Given the description of an element on the screen output the (x, y) to click on. 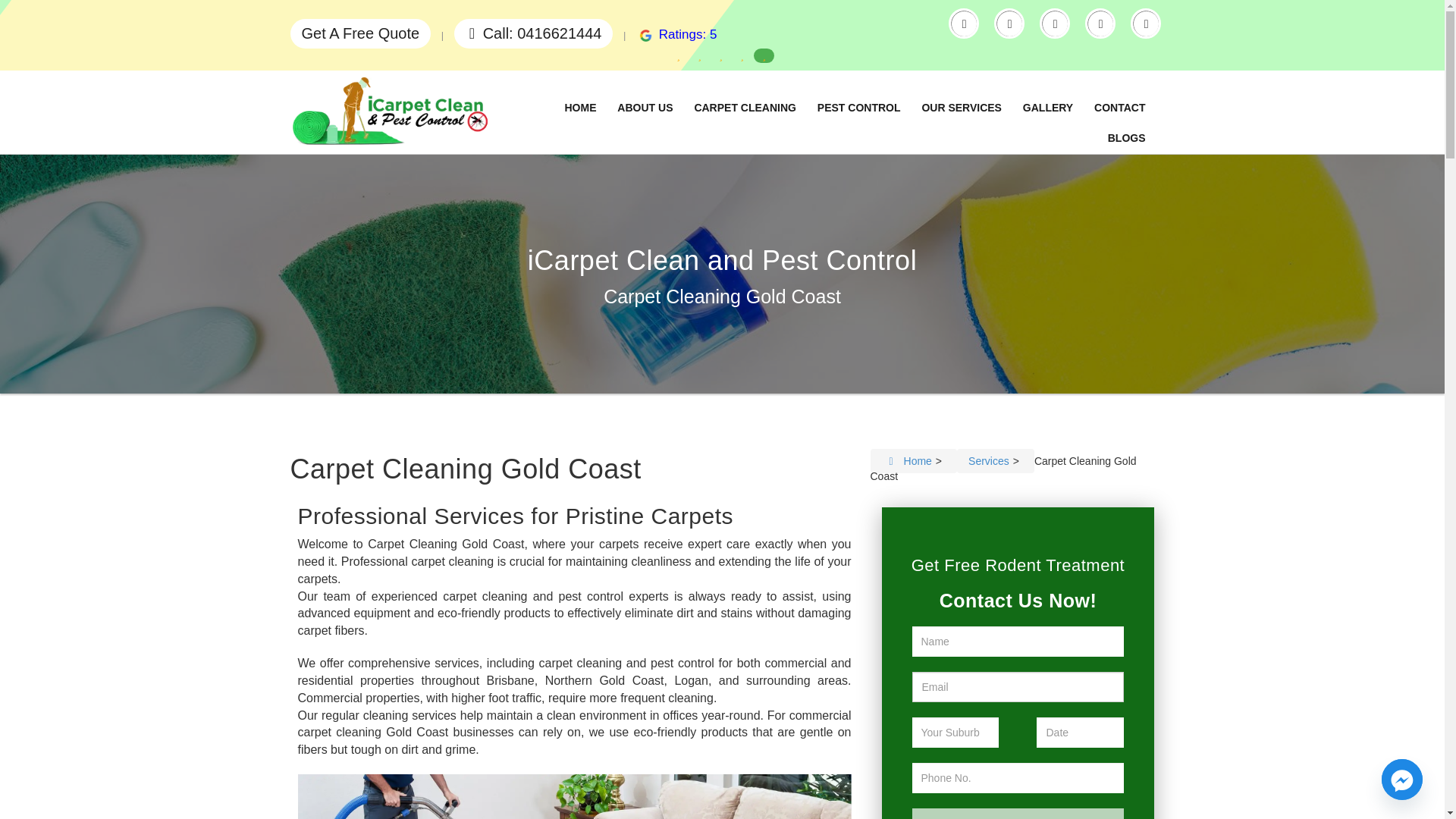
Call: 0416621444 (533, 33)
Get A Free Quote (359, 33)
Ratings: 5 (676, 34)
